Given the description of an element on the screen output the (x, y) to click on. 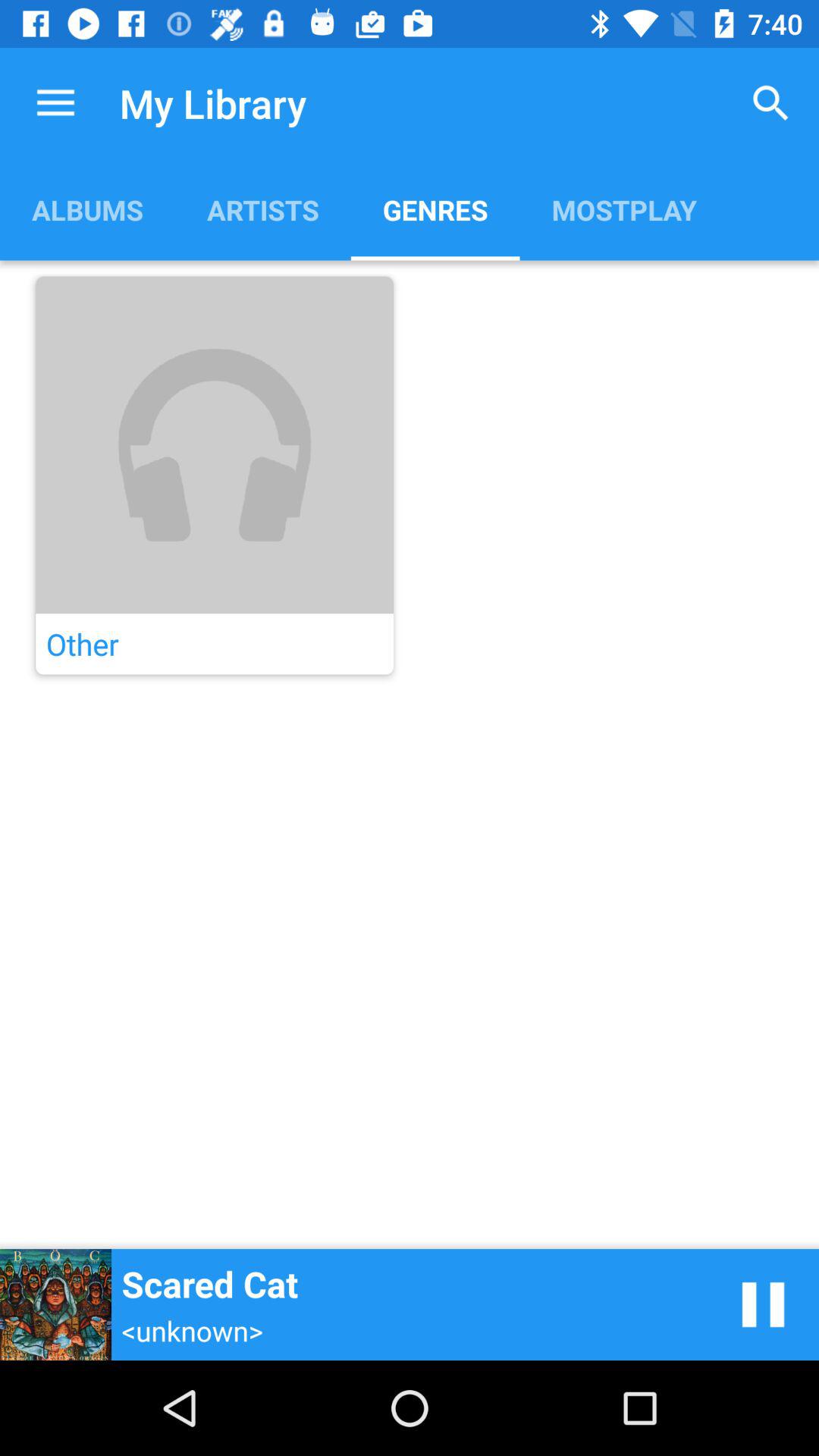
launch the item next to my library item (55, 103)
